Given the description of an element on the screen output the (x, y) to click on. 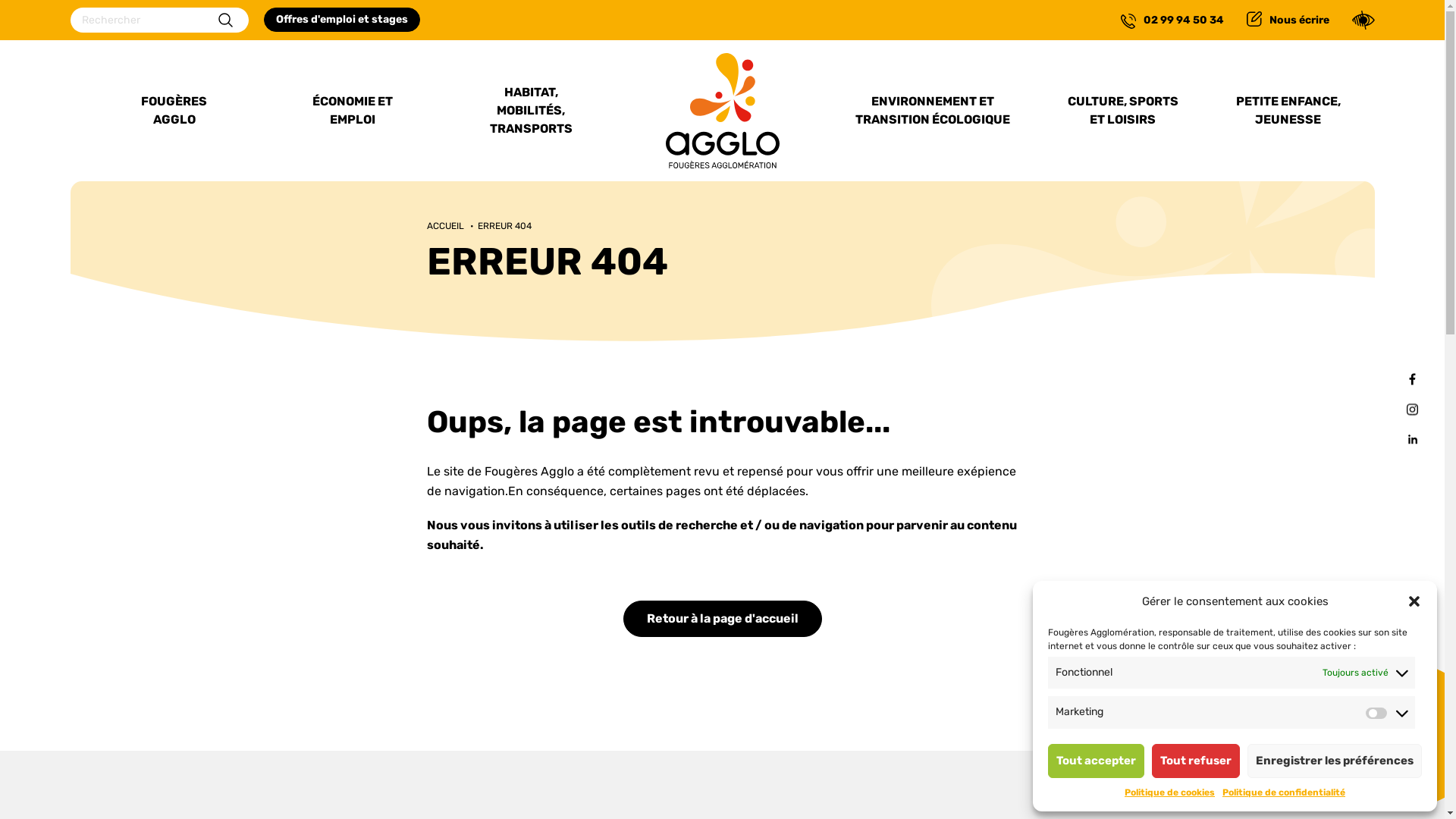
Facebook Element type: text (1411, 379)
Politique de cookies Element type: text (1169, 792)
ACCUEIL Element type: text (444, 225)
02 99 94 50 34 Element type: text (1171, 19)
Offres d'emploi et stages Element type: text (341, 19)
Rechercher Element type: text (225, 19)
CULTURE, SPORTS ET LOISIRS Element type: text (1122, 110)
Linkedin Element type: text (1411, 439)
Tout refuser Element type: text (1195, 760)
Confort Element type: text (0, 0)
Confort Element type: text (1363, 19)
Tout accepter Element type: text (1096, 760)
PETITE ENFANCE, JEUNESSE Element type: text (1287, 110)
Instagram Element type: text (1411, 409)
